Given the description of an element on the screen output the (x, y) to click on. 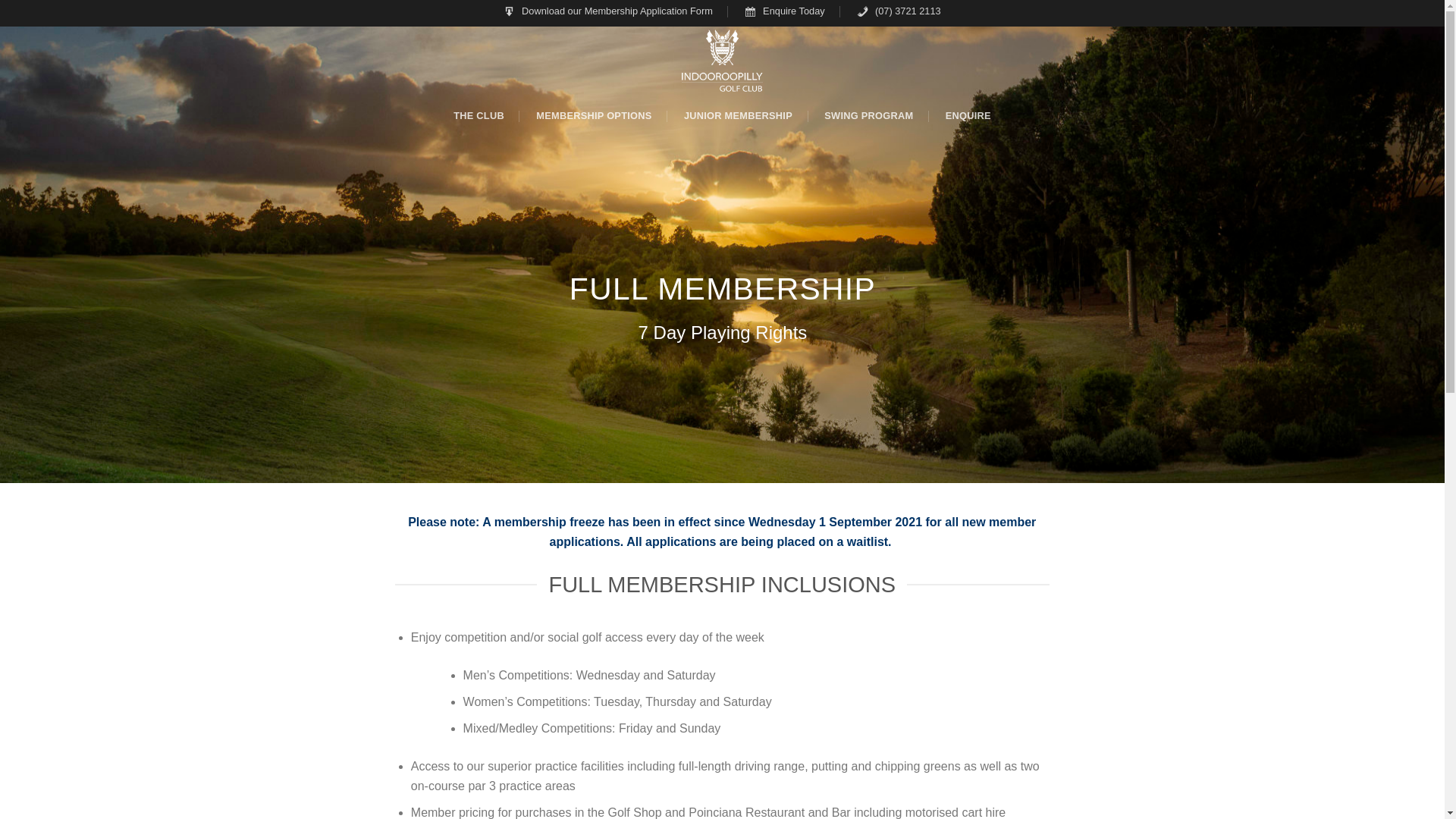
SWING PROGRAM Element type: text (868, 115)
JUNIOR MEMBERSHIP Element type: text (738, 115)
THE CLUB Element type: text (478, 115)
ENQUIRE Element type: text (968, 115)
MEMBERSHIP OPTIONS Element type: text (593, 115)
Indooroopilly Golf Club Members - Golf Course Brisbane QLD Element type: hover (722, 60)
